Given the description of an element on the screen output the (x, y) to click on. 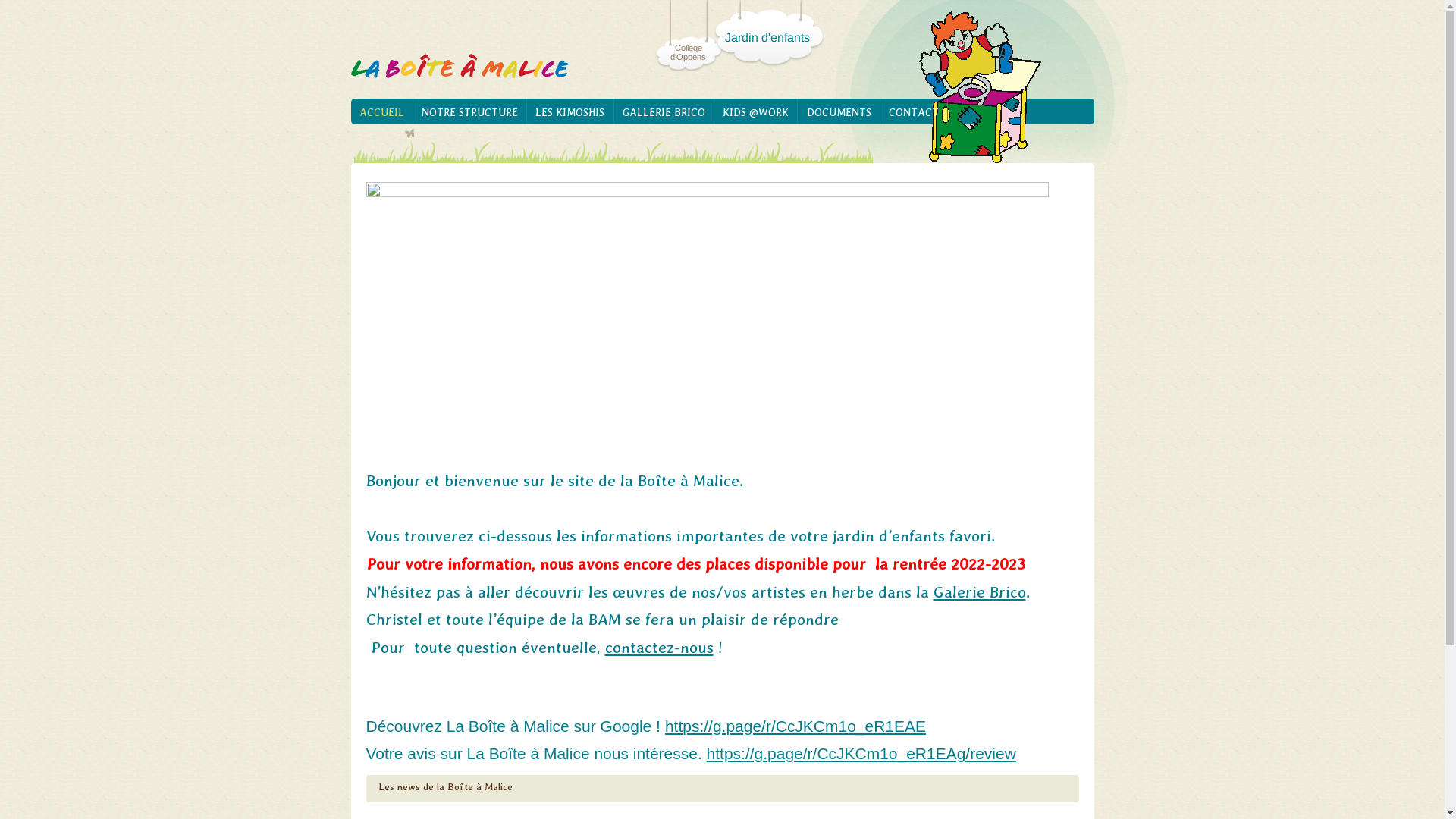
DOCUMENTS Element type: text (838, 111)
LES KIMOSHIS Element type: text (570, 111)
CONTACT Element type: text (913, 111)
https://g.page/r/CcJKCm1o_eR1EAE Element type: text (795, 725)
ACCUEIL Element type: text (381, 111)
NOTRE STRUCTURE Element type: text (470, 111)
GALLERIE BRICO Element type: text (664, 111)
contactez-nous Element type: text (659, 646)
Galerie Brico Element type: text (978, 591)
https://g.page/r/CcJKCm1o_eR1EAg/review Element type: text (861, 753)
KIDS @WORK Element type: text (755, 111)
